Given the description of an element on the screen output the (x, y) to click on. 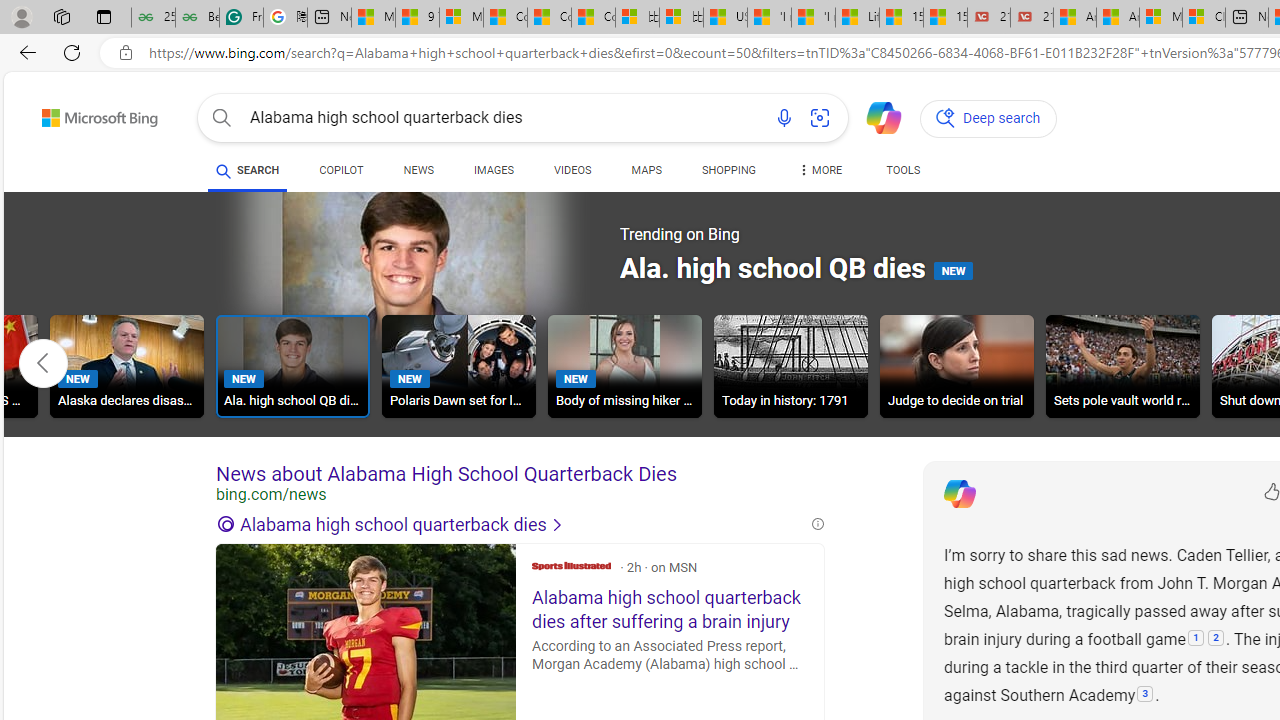
21 Movies That Outdid the Books They Were Based On (1032, 17)
15 Ways Modern Life Contradicts the Teachings of Jesus (945, 17)
NEWS (418, 170)
Alabama high school quarterback dies (511, 524)
Trending on Bing Ala. high school QB dies NEW (627, 272)
COPILOT (341, 173)
SHOPPING (728, 173)
NEWS (418, 173)
Cloud Computing Services | Microsoft Azure (1203, 17)
SEARCH (247, 170)
Body of missing hiker found NEW (624, 365)
